Given the description of an element on the screen output the (x, y) to click on. 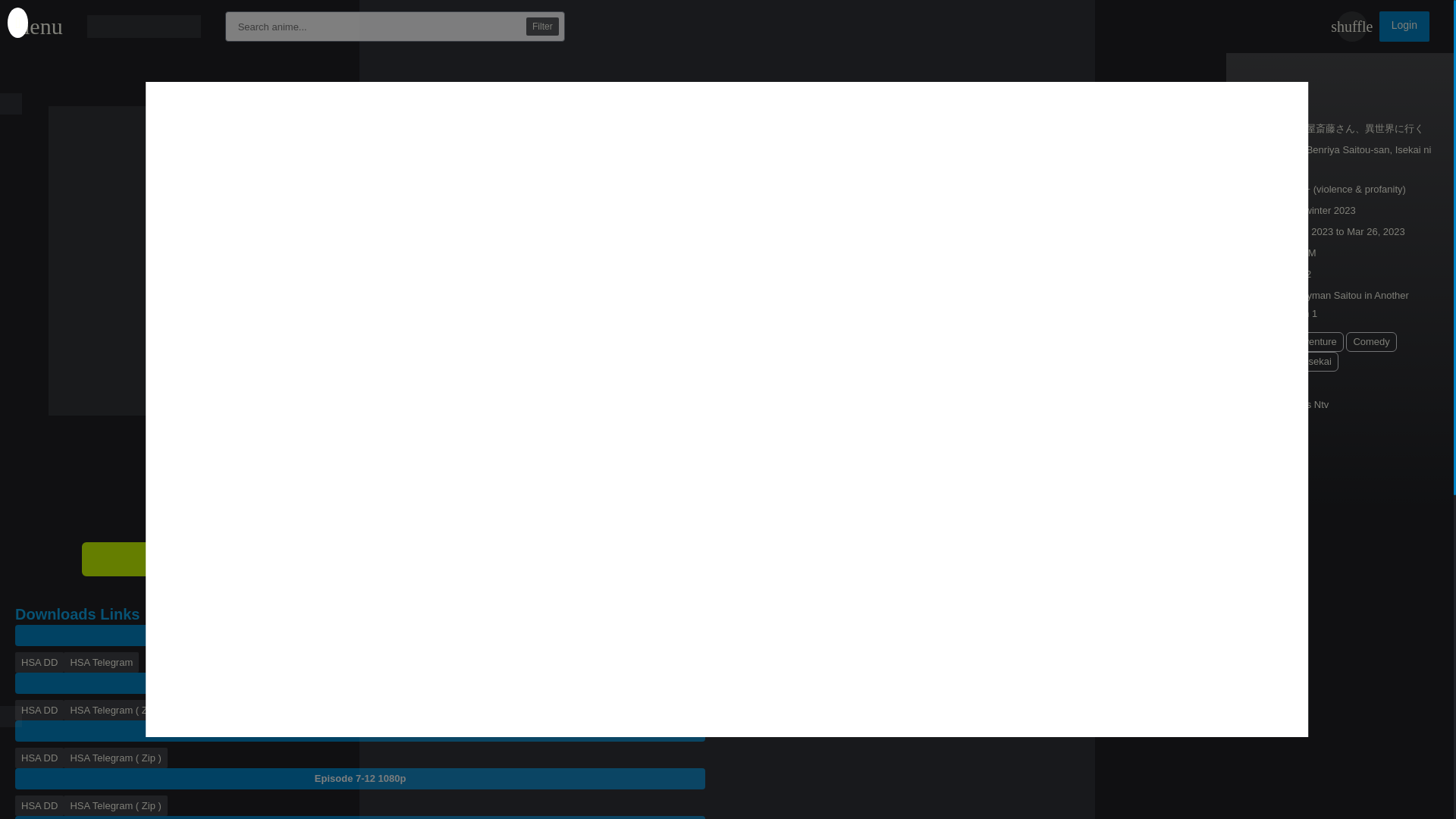
Advertising banners   (726, 773)
Filter (542, 26)
Close this ad (10, 716)
Advertising banners (726, 45)
Close this ad (10, 103)
I'm feeling lucky! (1351, 26)
